Given the description of an element on the screen output the (x, y) to click on. 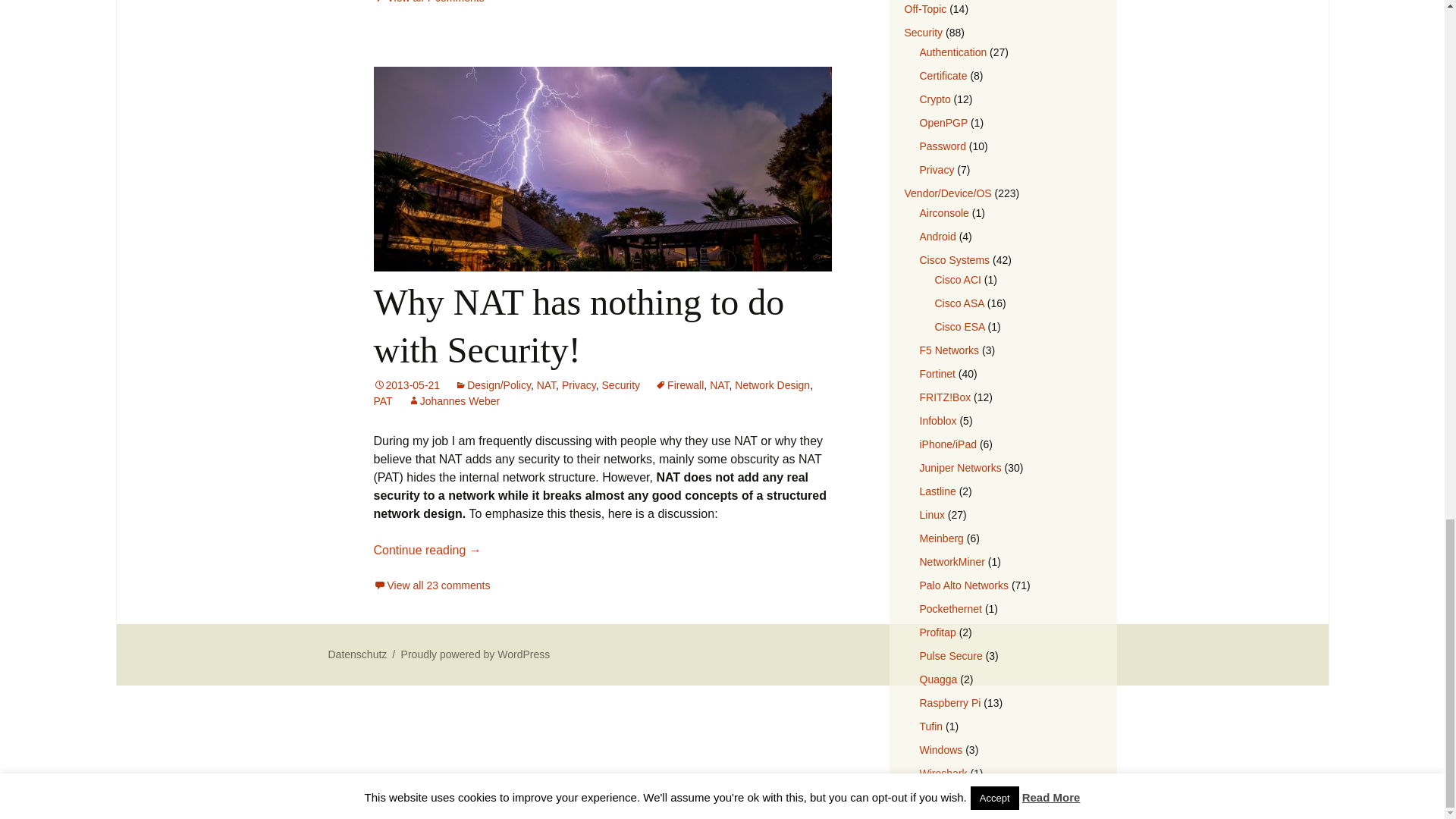
View all posts by Johannes Weber (453, 400)
Permalink to Why NAT has nothing to do with Security! (405, 385)
